Given the description of an element on the screen output the (x, y) to click on. 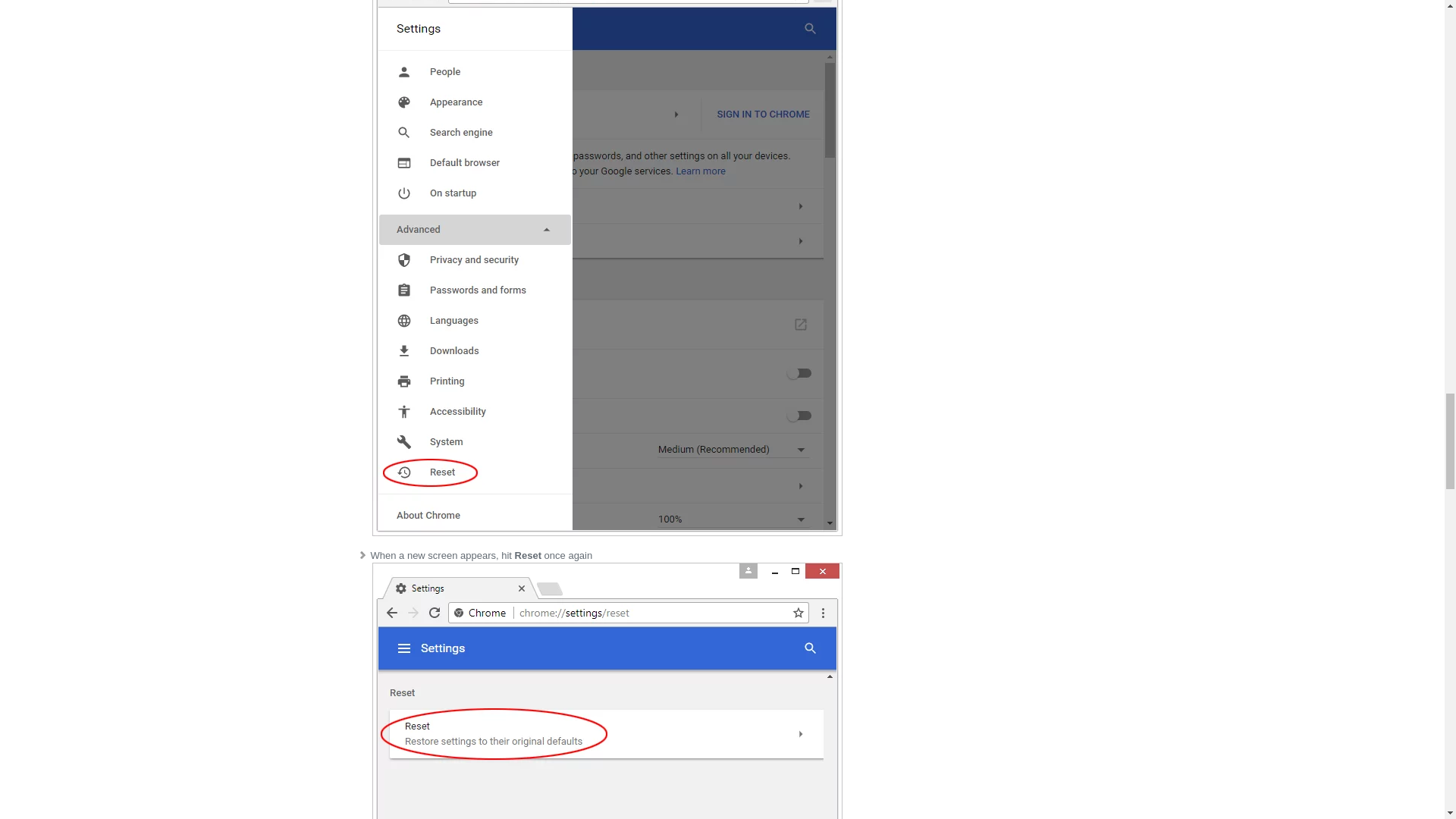
Click the Reset button one more time (606, 690)
